Given the description of an element on the screen output the (x, y) to click on. 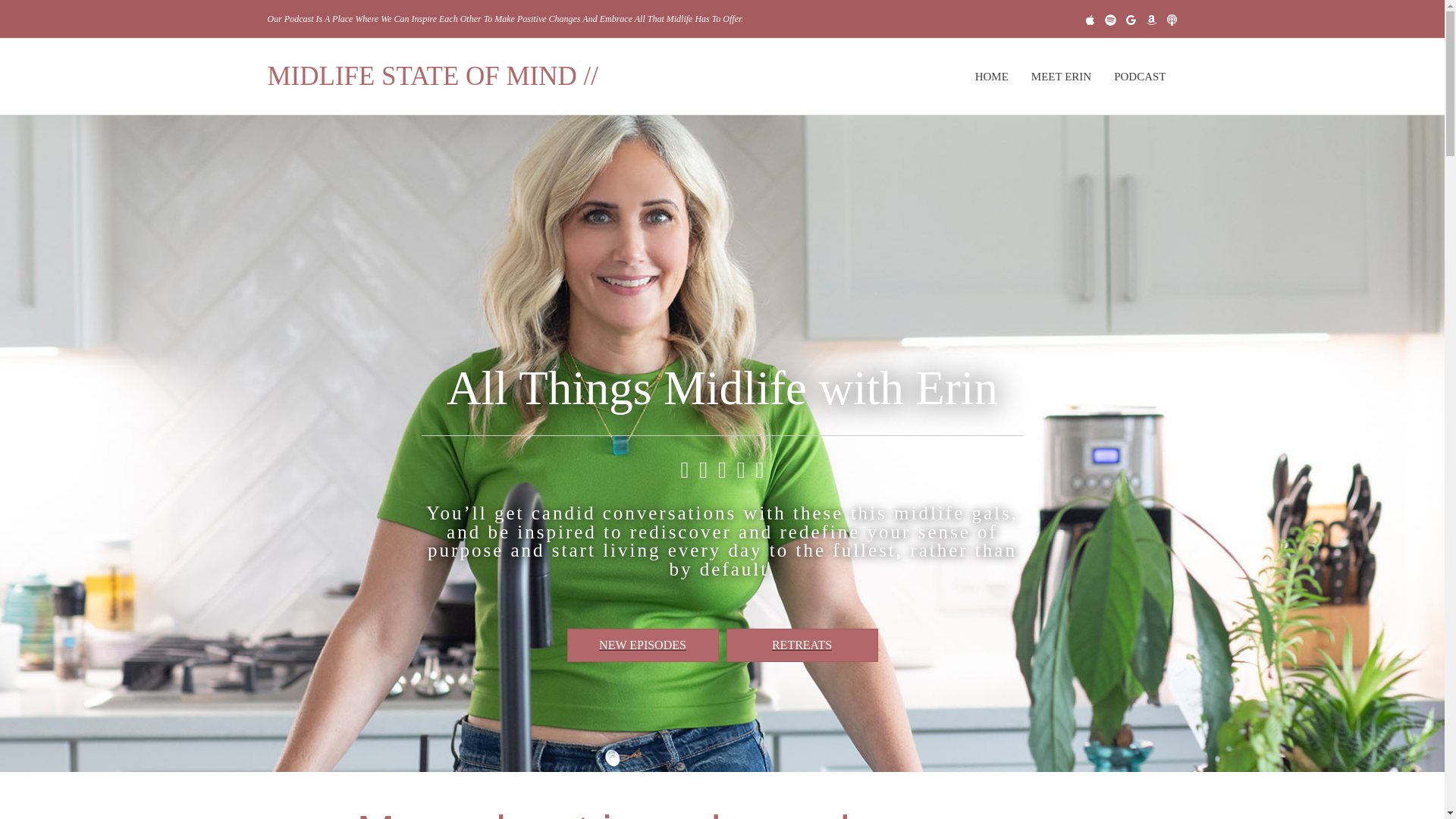
MEET ERIN (1061, 76)
PODCAST (1139, 76)
